Given the description of an element on the screen output the (x, y) to click on. 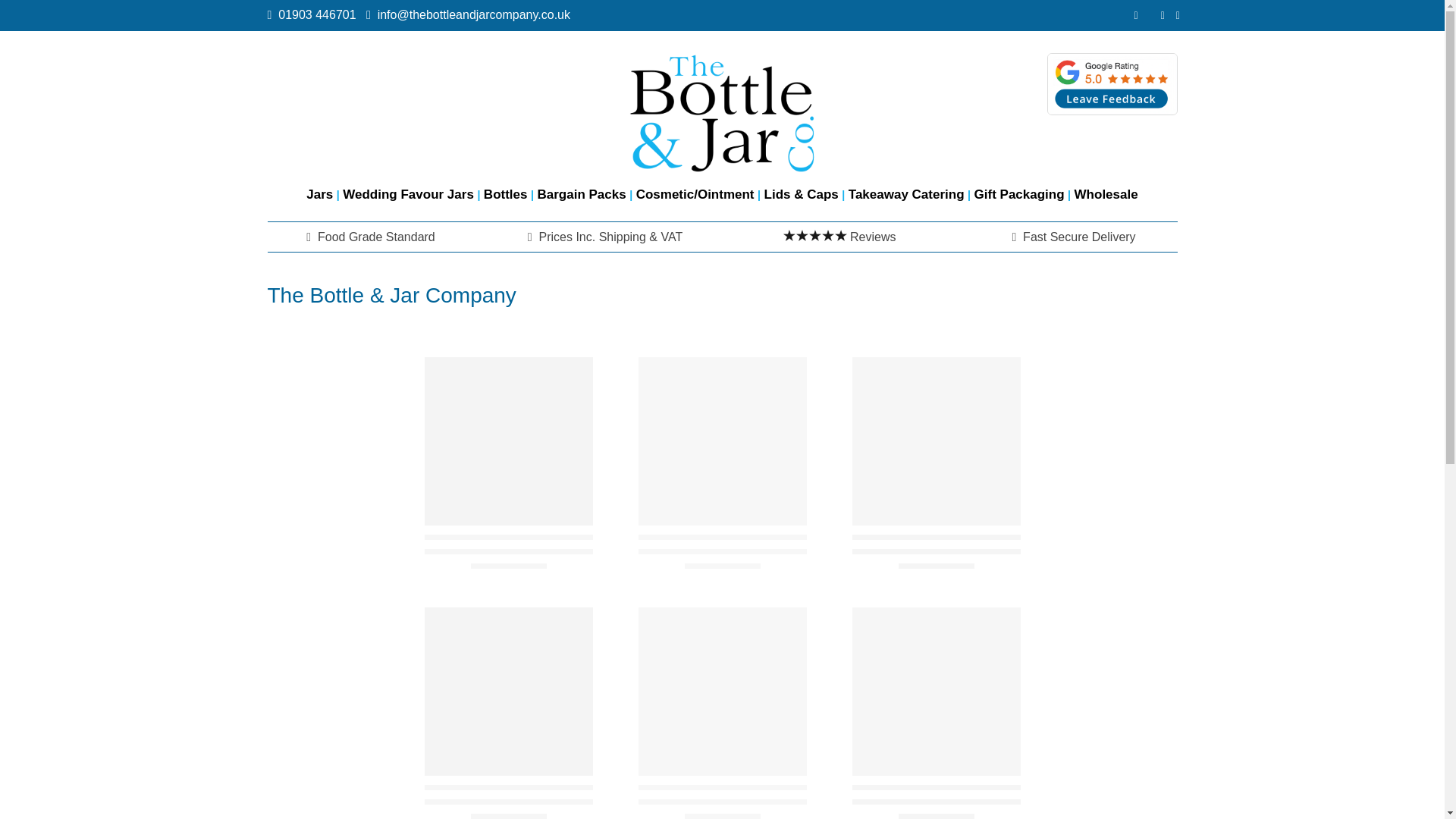
Gift Packaging (1019, 194)
Jars (319, 194)
Takeaway Catering (905, 194)
Wholesale (1106, 194)
01903 446701   (320, 14)
Wedding Favour Jars (408, 194)
Bottles (505, 194)
Feedback Button 150h (1112, 84)
Bargain Packs (581, 194)
